Given the description of an element on the screen output the (x, y) to click on. 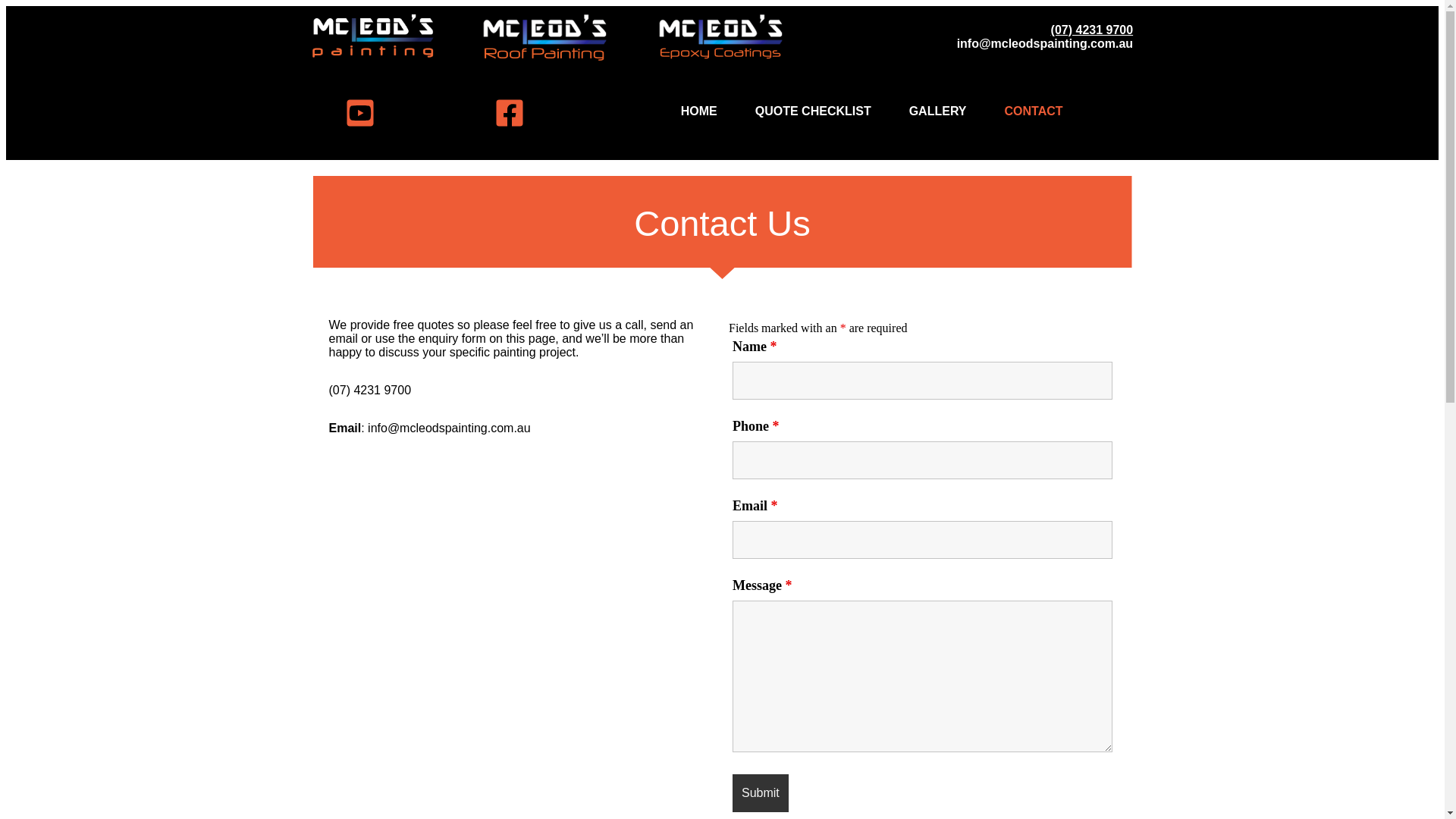
(07) 4231 9700 Element type: text (1092, 29)
Mcleods Epoxy Coatings logo Element type: hover (720, 37)
GALLERY Element type: text (937, 111)
QUOTE CHECKLIST Element type: text (813, 111)
CONTACT Element type: text (1033, 111)
HOME Element type: text (698, 111)
Untitled design-9 Element type: hover (372, 36)
Submit Element type: text (760, 793)
Mcleods Roof Painting logo Element type: hover (544, 37)
